Given the description of an element on the screen output the (x, y) to click on. 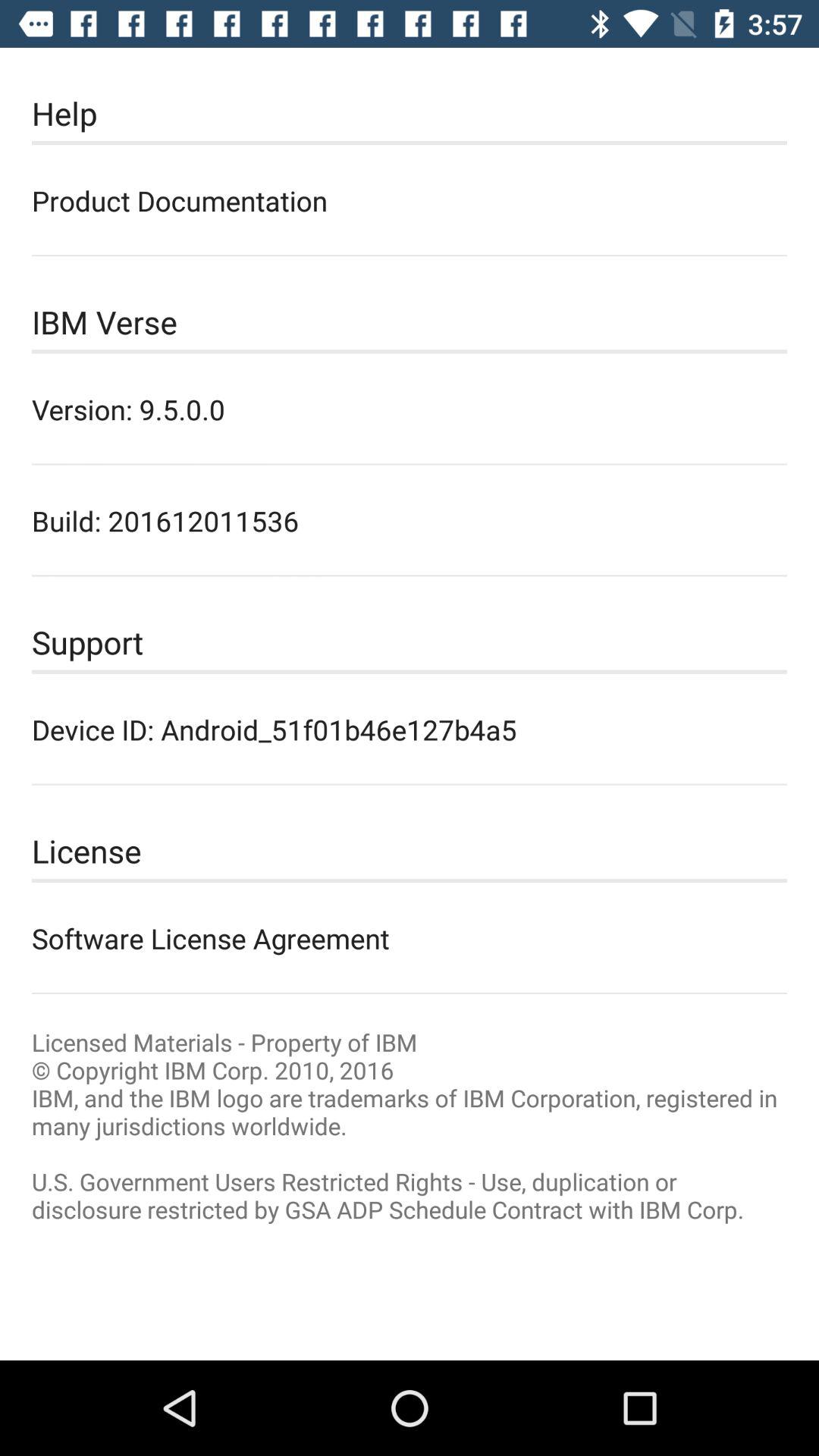
select the product documentation item (409, 200)
